Given the description of an element on the screen output the (x, y) to click on. 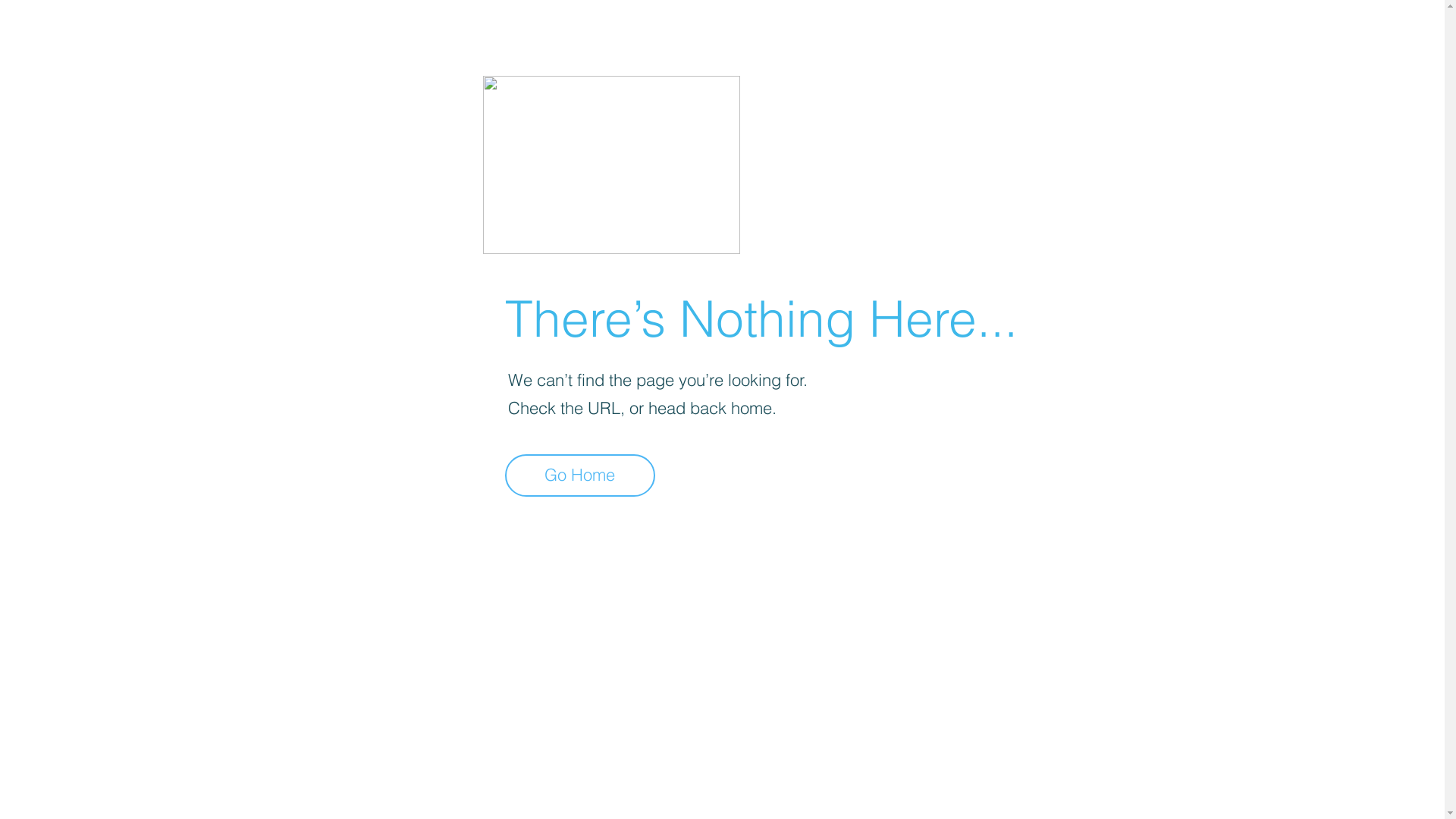
Go Home Element type: text (580, 475)
404-icon_2.png Element type: hover (610, 164)
